Given the description of an element on the screen output the (x, y) to click on. 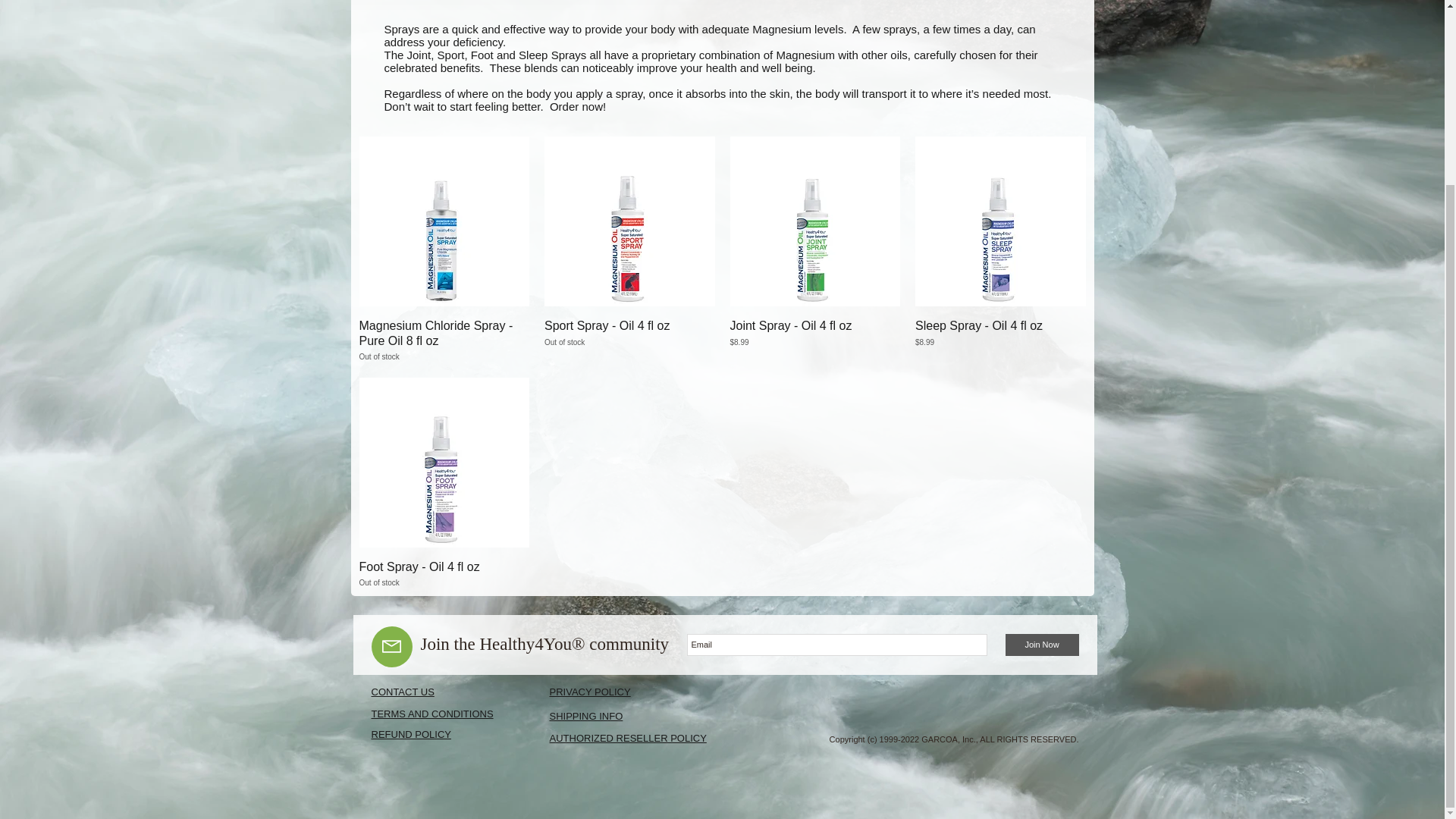
TERMS AND CONDITIONS (432, 713)
CONTACT US (402, 691)
Join Now (444, 339)
REFUND POLICY (1042, 644)
